Given the description of an element on the screen output the (x, y) to click on. 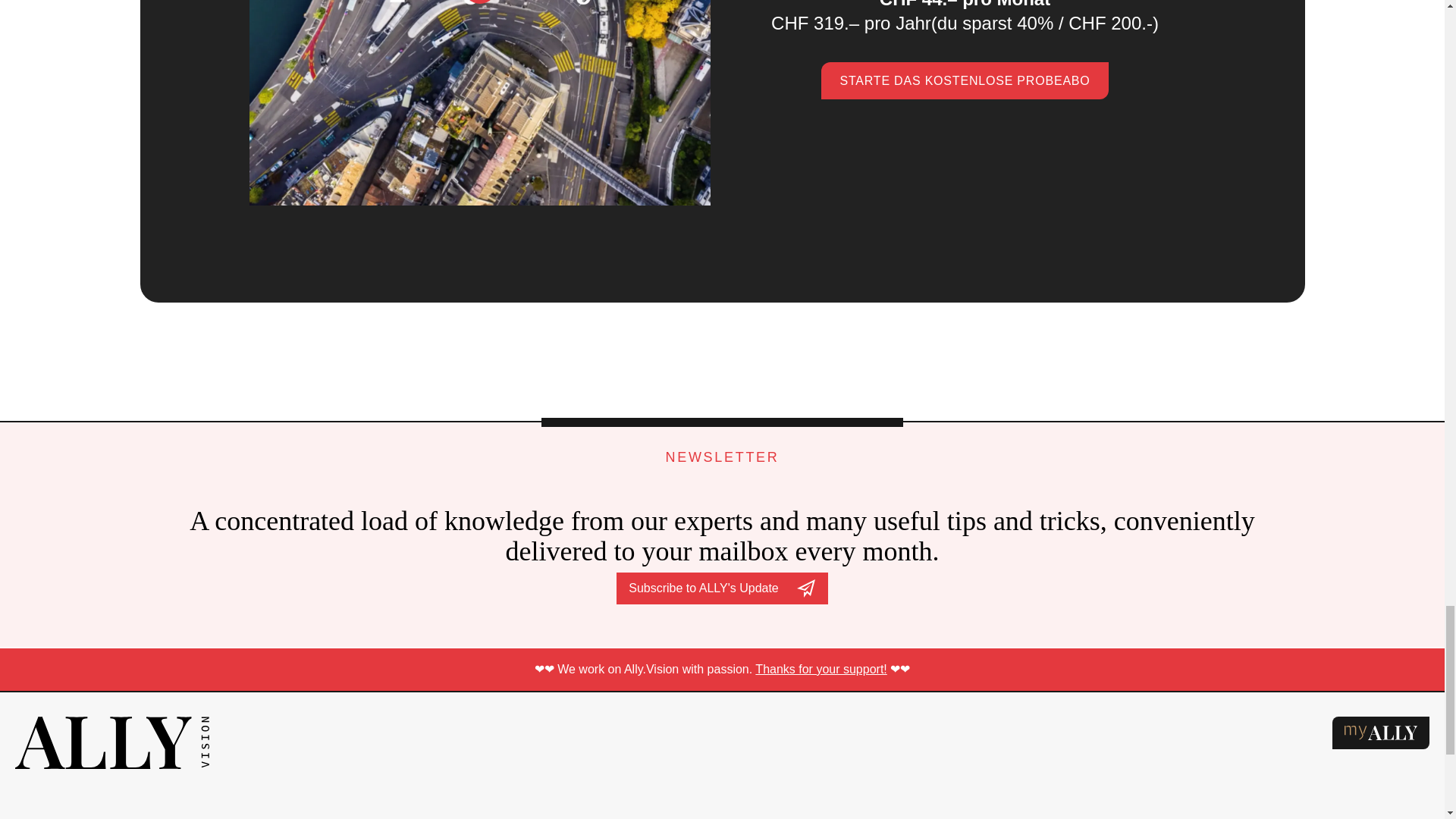
Subscribe to ALLY's Update (721, 588)
Thanks for your support! (820, 668)
STARTE DAS KOSTENLOSE PROBEABO (964, 80)
